Given the description of an element on the screen output the (x, y) to click on. 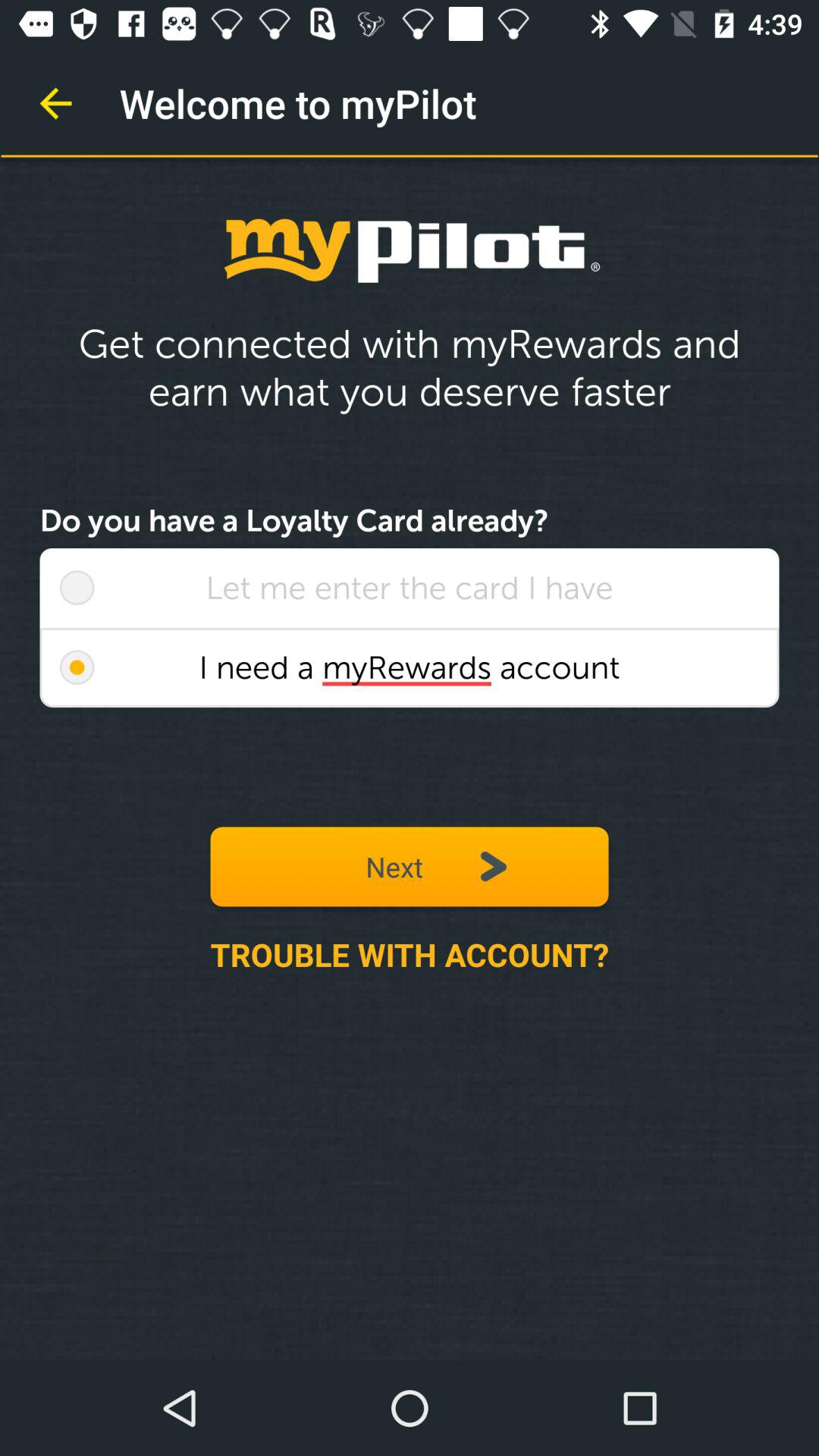
choose the icon above i need a item (76, 587)
